Given the description of an element on the screen output the (x, y) to click on. 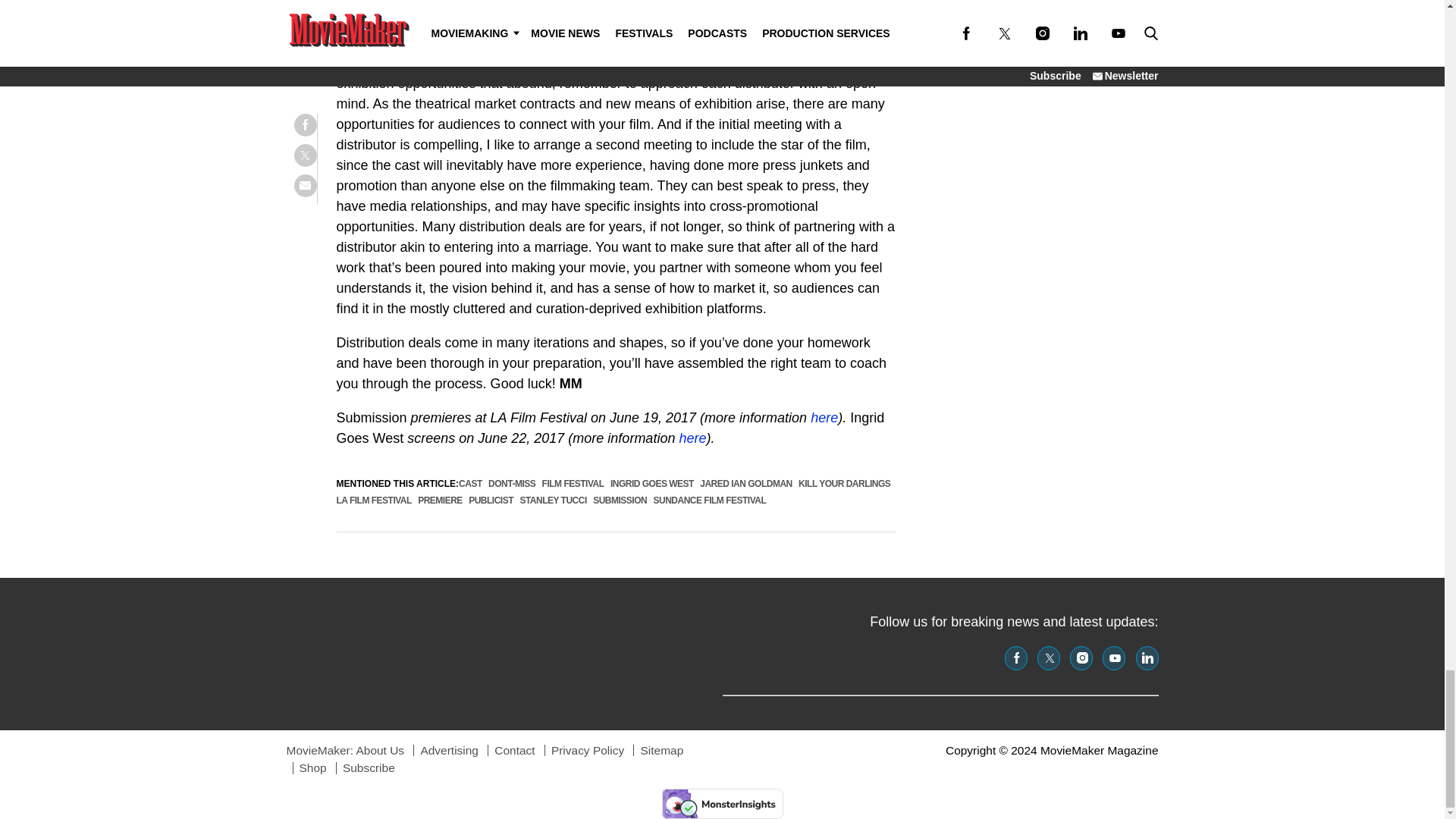
Contact MovieMaker Magazine (514, 749)
Follow us on Twitter (1047, 658)
MovieMaker Magazine Privacy Policy (587, 749)
Follow us on Instagram (1081, 658)
Follow us on Facebook (1015, 658)
DONT-MISS (511, 483)
FILM FESTIVAL (572, 483)
CAST (469, 483)
INGRID GOES WEST (652, 483)
Connect with us on LinkedIn (1146, 658)
JARED IAN GOLDMAN (746, 483)
here (824, 417)
Subscribe to our YouTube channel (1113, 658)
MovieMaker Magazine Shop (312, 767)
MovieMaker: About Us (345, 749)
